Given the description of an element on the screen output the (x, y) to click on. 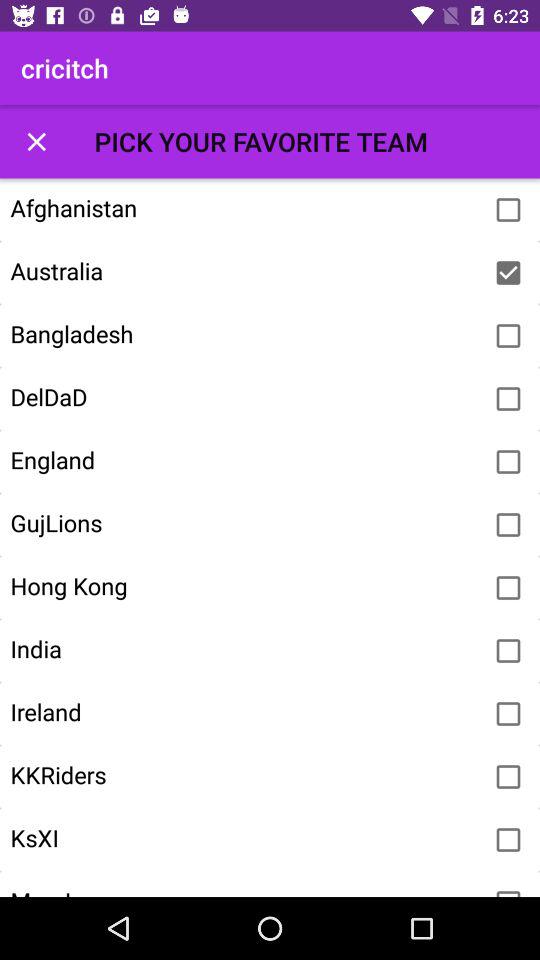
check for bangladesh (508, 336)
